Given the description of an element on the screen output the (x, y) to click on. 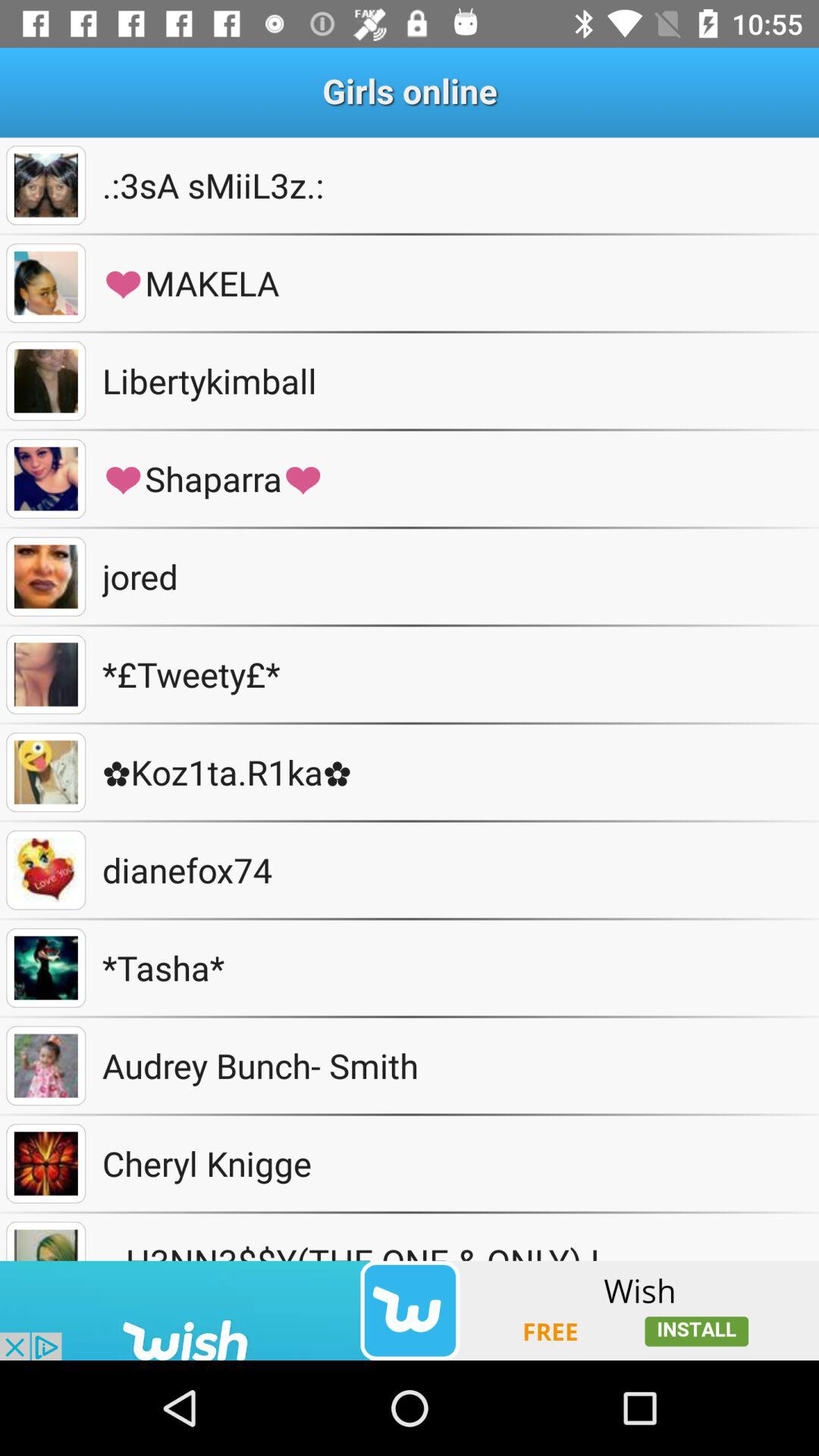
online button (45, 576)
